Given the description of an element on the screen output the (x, y) to click on. 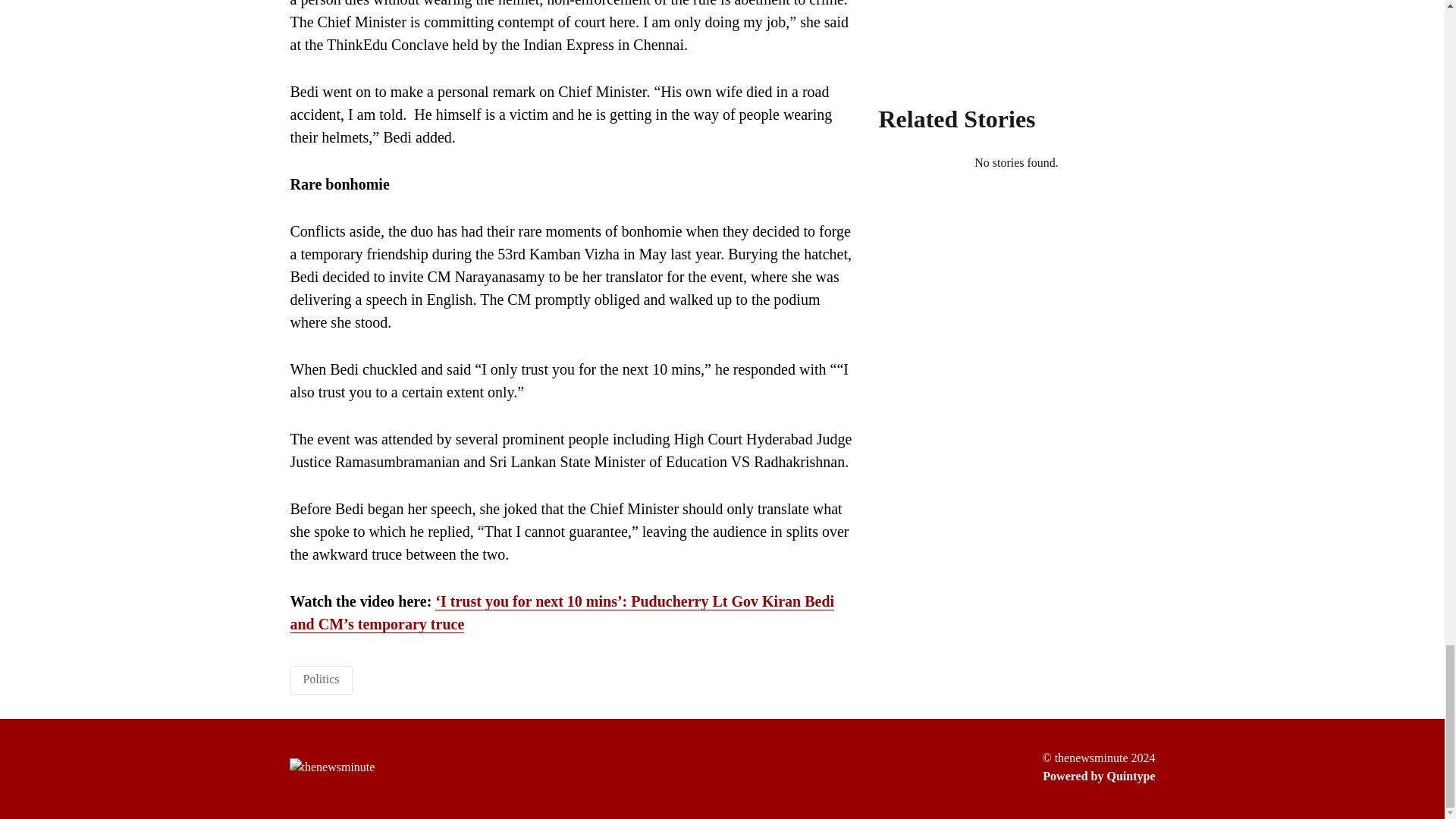
Politics (320, 678)
Powered by Quintype (1098, 776)
